Given the description of an element on the screen output the (x, y) to click on. 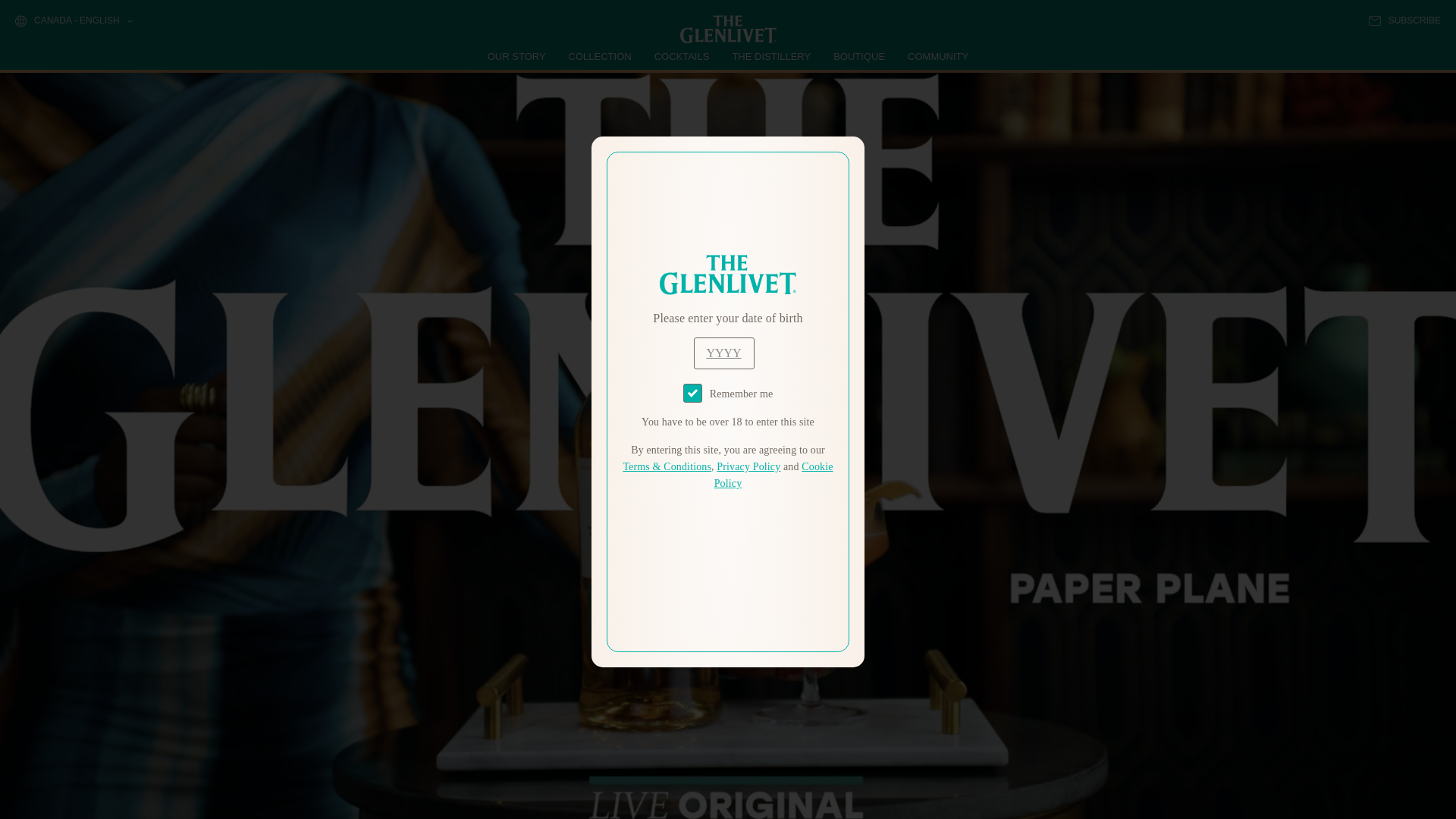
COLLECTION (600, 56)
BOUTIQUE (858, 56)
CANADA - ENGLISH (73, 21)
SUBSCRIBE (1404, 20)
OUR STORY (516, 56)
year (723, 353)
COMMUNITY (937, 56)
THE DISTILLERY (771, 56)
COCKTAILS (681, 56)
Privacy Policy (748, 466)
Cookie Policy (773, 474)
